Given the description of an element on the screen output the (x, y) to click on. 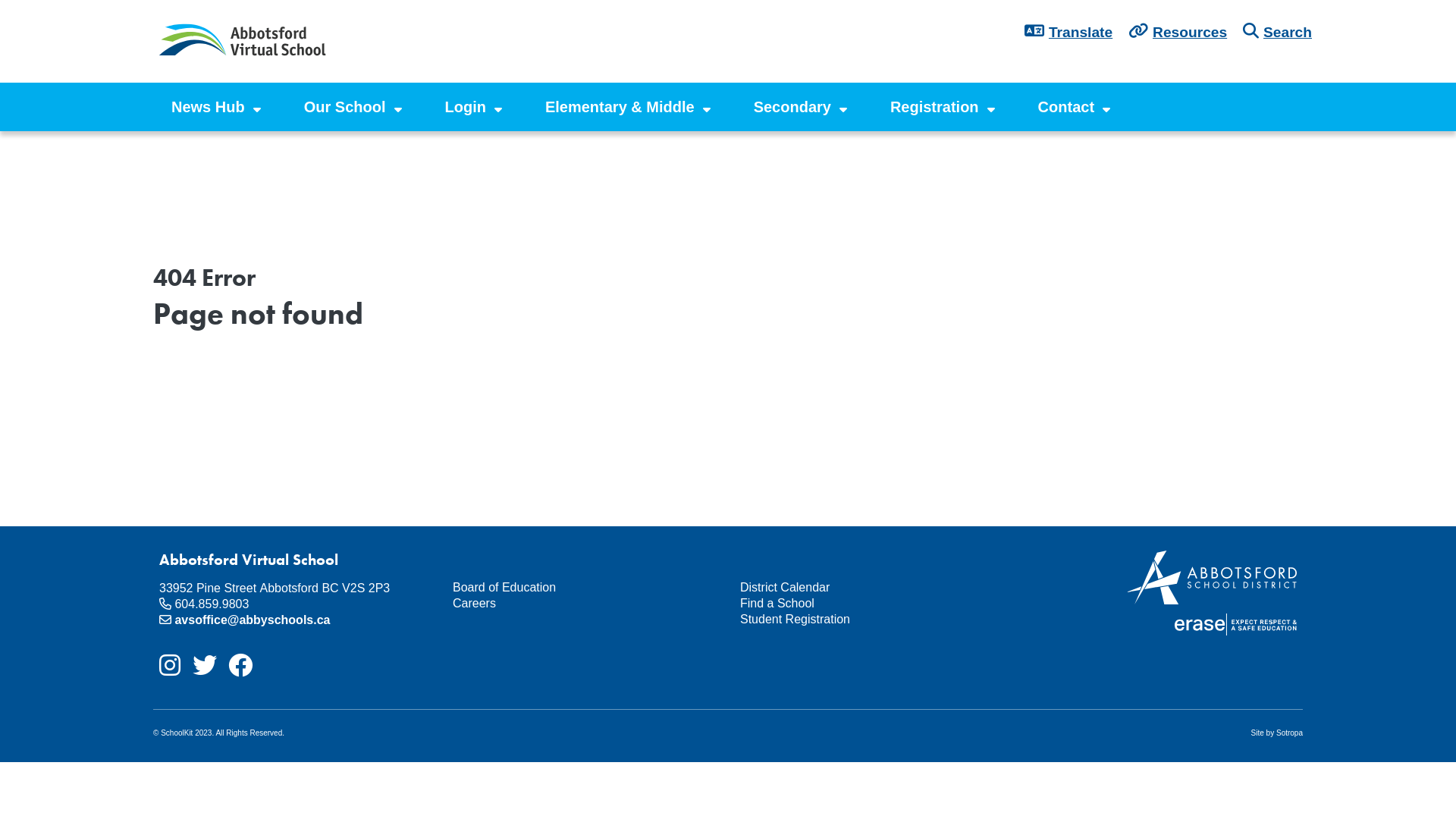
Careers Element type: text (583, 603)
Sotropa Element type: text (1289, 732)
Board of Education Element type: text (583, 588)
Find a School Element type: text (871, 603)
Footer Element type: text (446, 550)
Skip to main content Element type: text (0, 0)
Student Registration Element type: text (871, 619)
Footer Element type: text (734, 550)
604.859.9803 Element type: text (211, 603)
District Calendar Element type: text (871, 588)
Home Element type: hover (244, 41)
Translate Element type: text (1080, 32)
Resources Element type: text (1187, 32)
avsoffice@abbyschools.ca Element type: text (251, 619)
Search Element type: text (1284, 32)
